Given the description of an element on the screen output the (x, y) to click on. 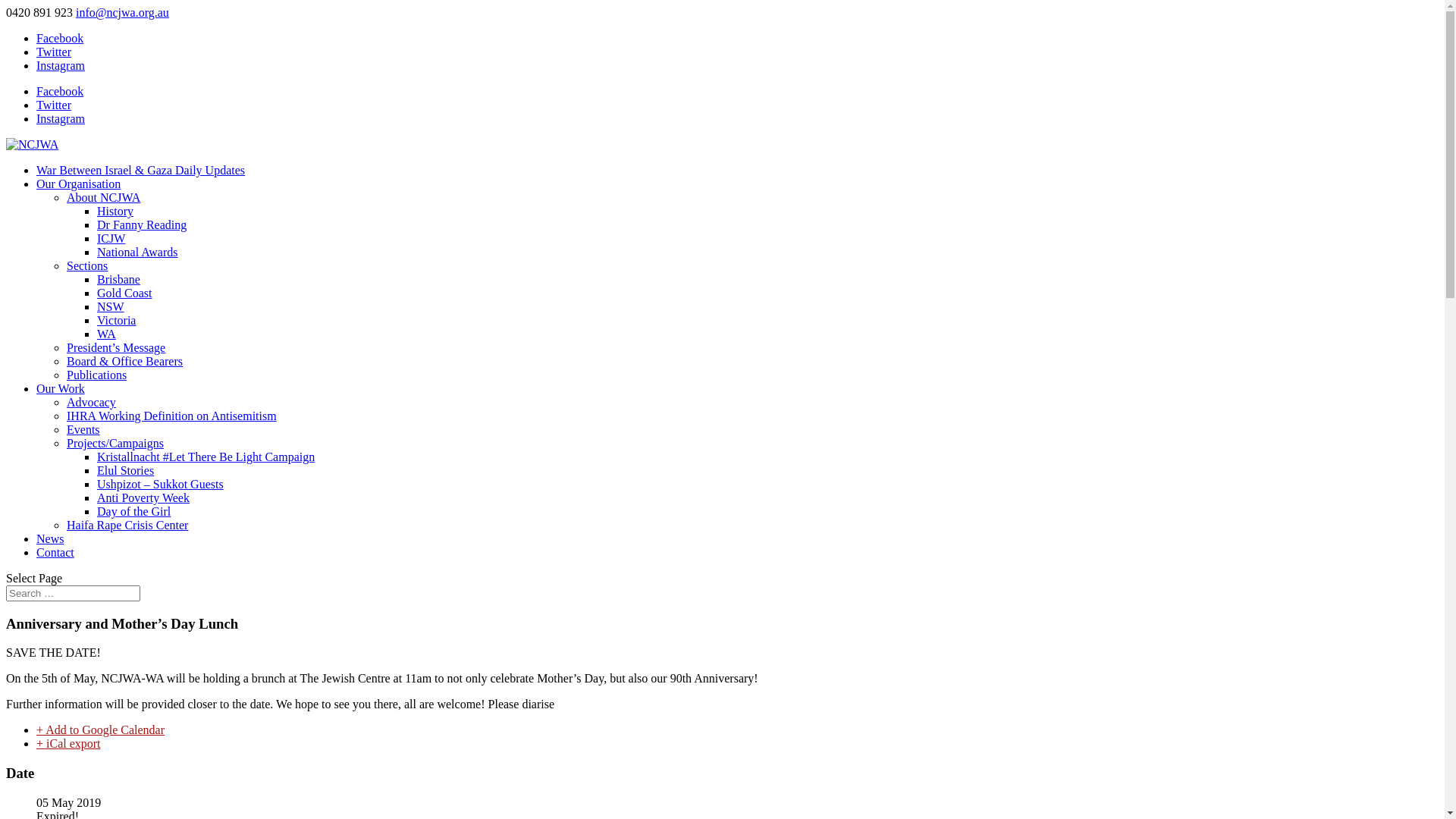
Day of the Girl Element type: text (133, 511)
Facebook Element type: text (59, 90)
Board & Office Bearers Element type: text (124, 360)
NSW Element type: text (110, 306)
Kristallnacht #Let There Be Light Campaign Element type: text (205, 456)
News Element type: text (49, 538)
Elul Stories Element type: text (125, 470)
Sections Element type: text (86, 265)
Instagram Element type: text (60, 65)
Publications Element type: text (96, 374)
Haifa Rape Crisis Center Element type: text (127, 524)
Our Work Element type: text (60, 388)
About NCJWA Element type: text (103, 197)
ICJW Element type: text (111, 238)
Facebook Element type: text (59, 37)
Contact Element type: text (55, 552)
War Between Israel & Gaza Daily Updates Element type: text (140, 169)
Instagram Element type: text (60, 118)
Advocacy Element type: text (91, 401)
Gold Coast Element type: text (124, 292)
Twitter Element type: text (53, 51)
Dr Fanny Reading Element type: text (141, 224)
+ Add to Google Calendar Element type: text (100, 729)
Search for: Element type: hover (73, 593)
WA Element type: text (106, 333)
Our Organisation Element type: text (78, 183)
Events Element type: text (83, 429)
Anti Poverty Week Element type: text (143, 497)
National Awards Element type: text (137, 251)
Twitter Element type: text (53, 104)
+ iCal export Element type: text (68, 743)
Brisbane Element type: text (118, 279)
Victoria Element type: text (116, 319)
info@ncjwa.org.au Element type: text (122, 12)
History Element type: text (115, 210)
Projects/Campaigns Element type: text (114, 442)
IHRA Working Definition on Antisemitism Element type: text (171, 415)
